Given the description of an element on the screen output the (x, y) to click on. 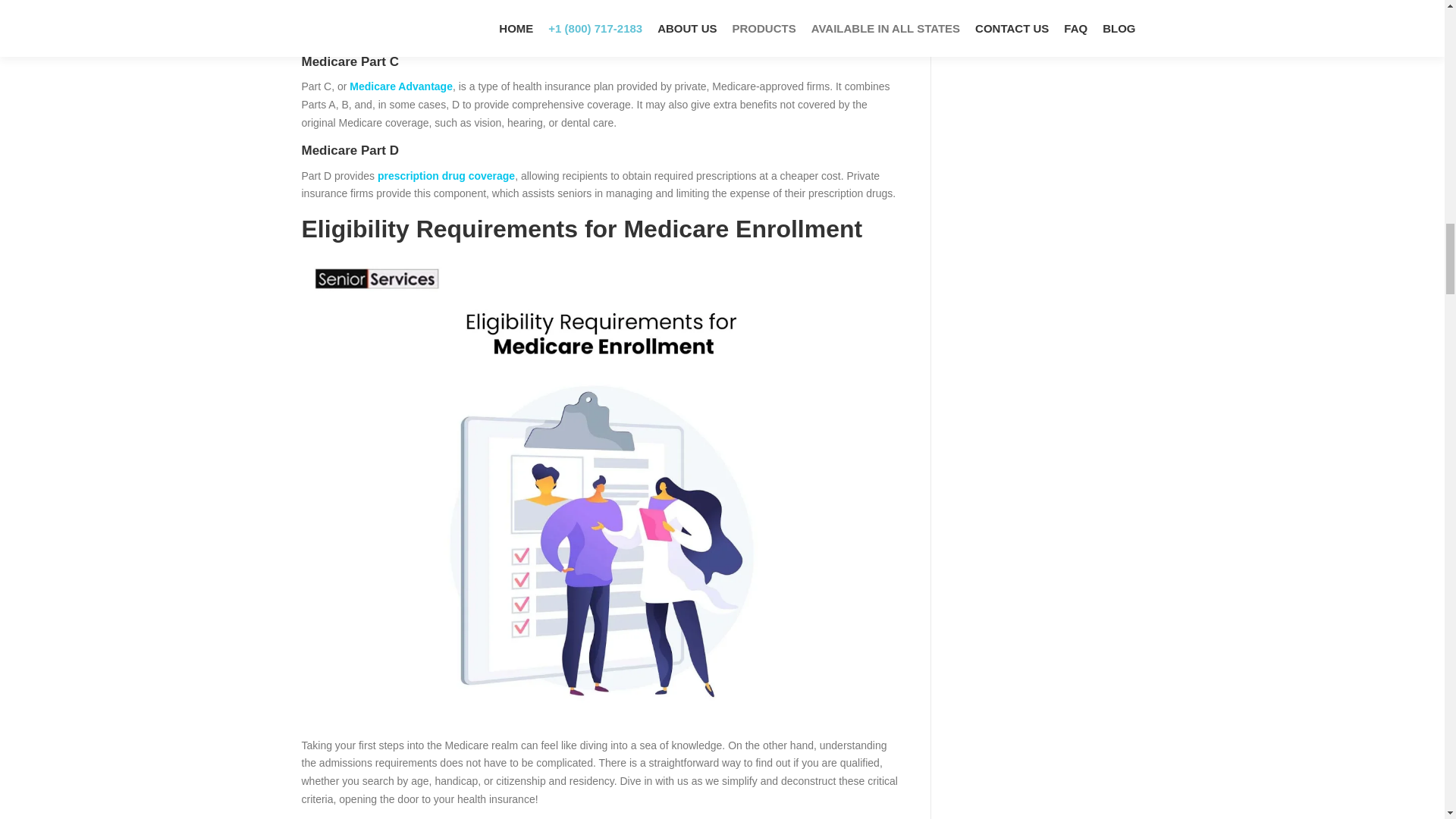
medical insurance (395, 15)
prescription drug coverage (446, 175)
Medicare Advantage (400, 86)
